Given the description of an element on the screen output the (x, y) to click on. 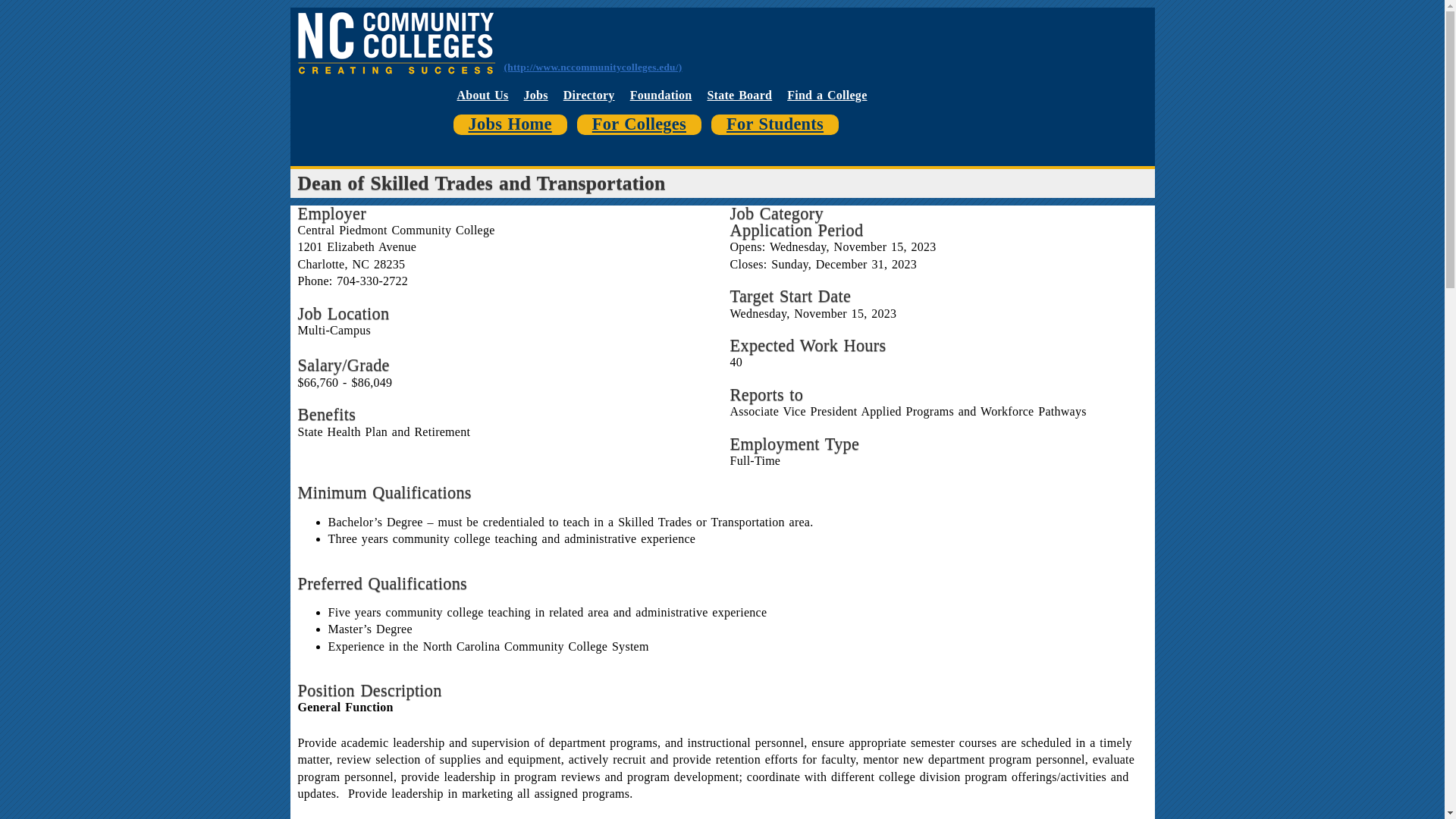
Foundation (661, 94)
State Board (738, 94)
For Students (774, 124)
About Us (482, 94)
Directory (588, 94)
Jobs (536, 94)
Find a College (826, 94)
For Colleges (638, 124)
Jobs Home (509, 124)
